Given the description of an element on the screen output the (x, y) to click on. 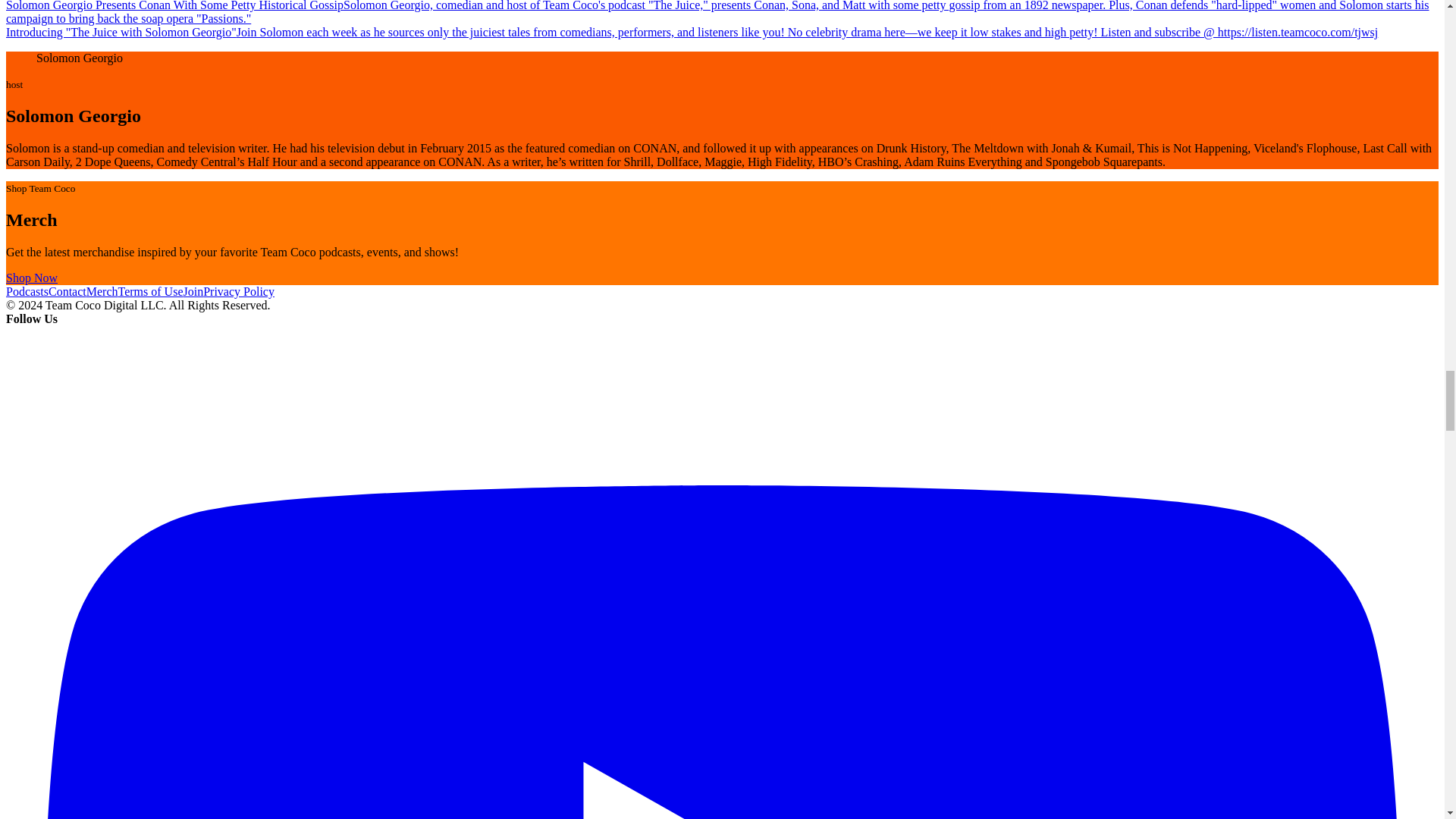
Podcasts (26, 291)
Privacy Policy (239, 291)
Terms of Use (150, 291)
Contact (66, 291)
Merch (101, 291)
Shop Now (31, 277)
Introducing "The Juice with Solomon Georgio" (120, 31)
Join (193, 291)
